Given the description of an element on the screen output the (x, y) to click on. 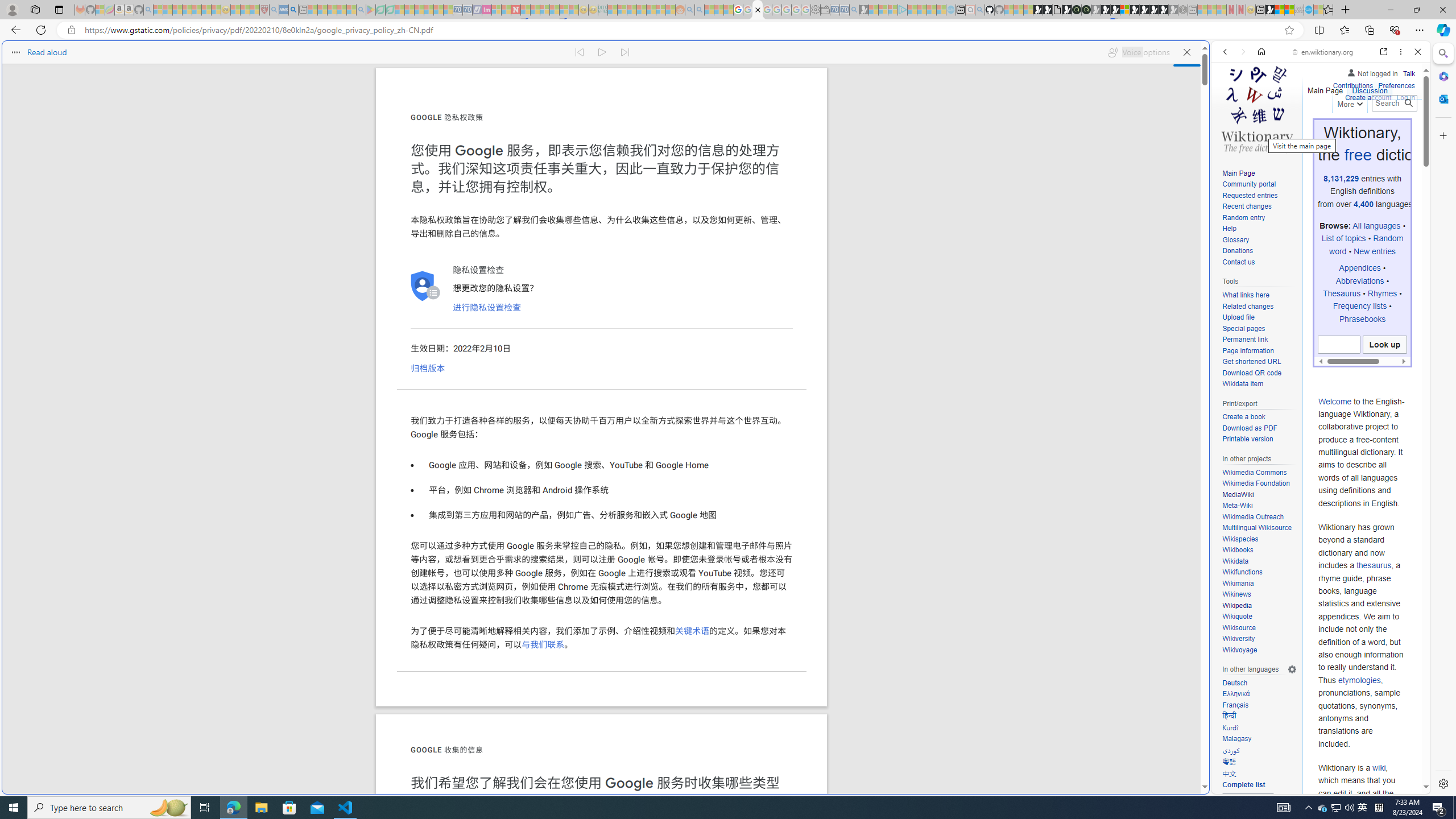
Permanent link (1244, 339)
Not logged in (1371, 71)
Related changes (1247, 306)
Future Focus Report 2024 (1085, 9)
utah sues federal government - Search (292, 9)
Visit the main page (1257, 108)
Sign in to your account (1124, 9)
